Given the description of an element on the screen output the (x, y) to click on. 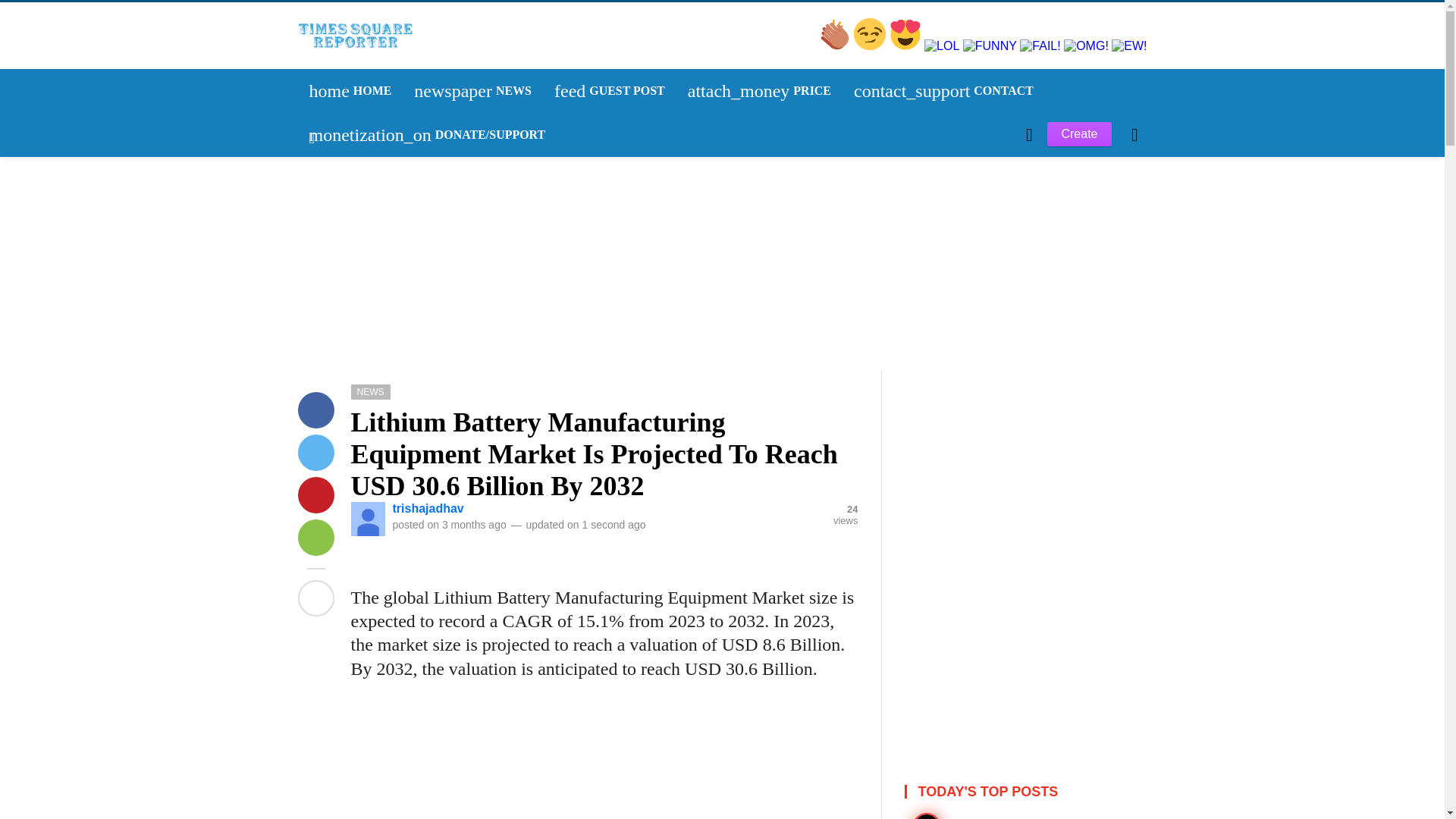
LOL (336, 309)
LOL (943, 45)
Log in (329, 308)
FUNNY (345, 309)
NICE (870, 45)
AWESOME! (334, 309)
AWESOME! (350, 90)
OMG! (610, 90)
sign up (835, 45)
LOVED (341, 309)
FAIL! (473, 90)
OMG! (331, 308)
